Given the description of an element on the screen output the (x, y) to click on. 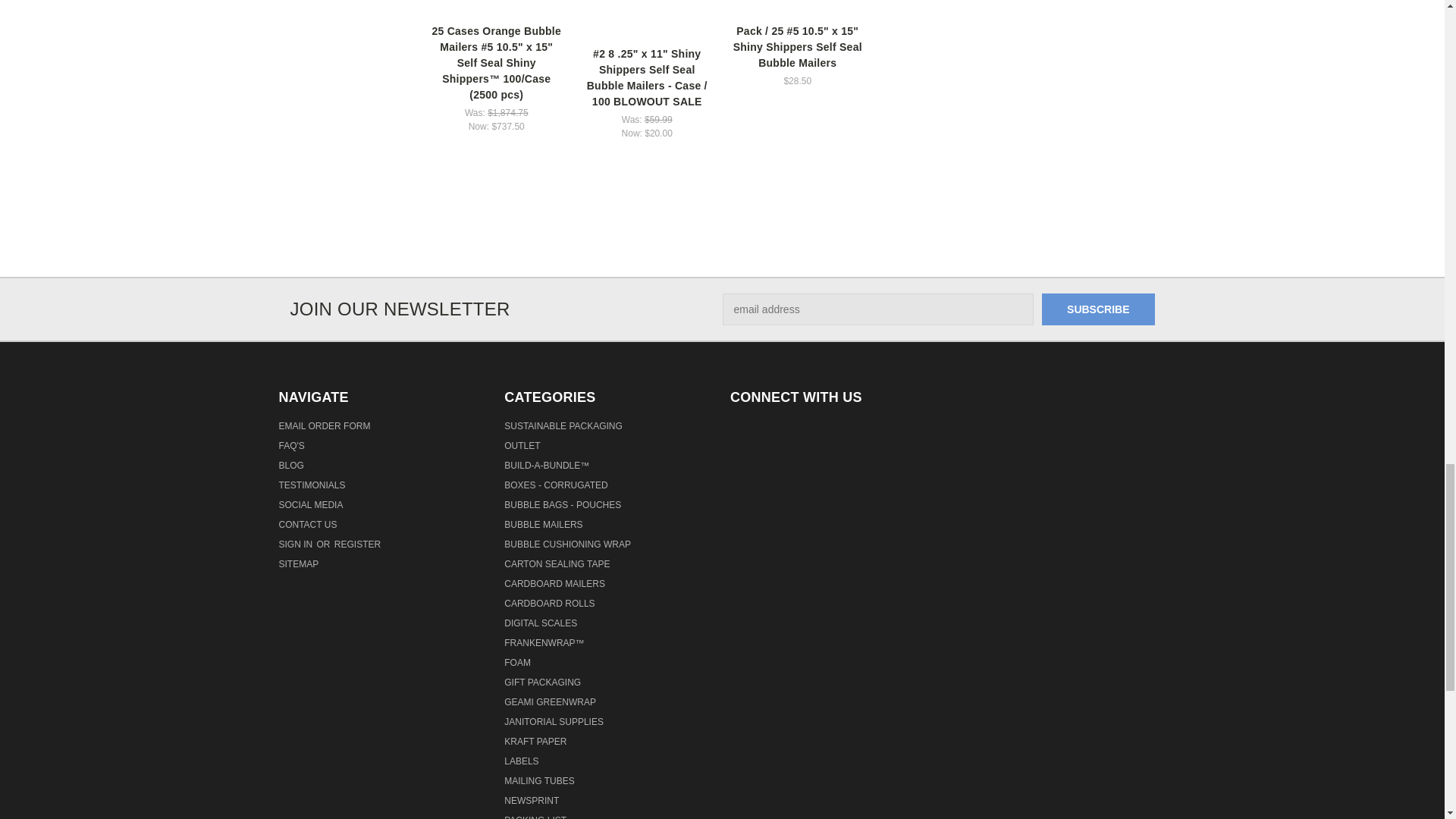
Subscribe (1098, 309)
